Given the description of an element on the screen output the (x, y) to click on. 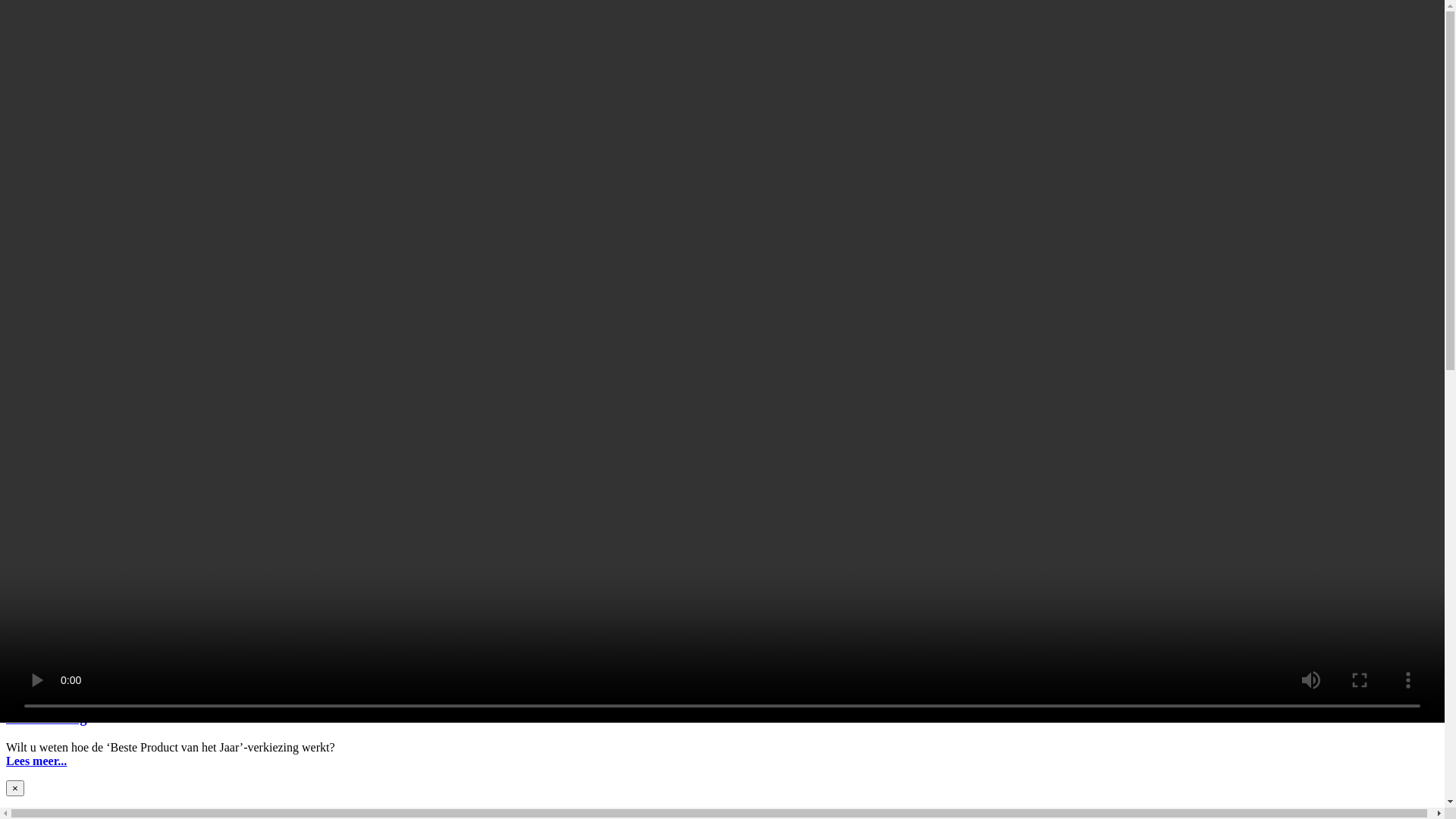
Stem Element type: text (21, 594)
de verkiezing Element type: text (46, 717)
Contact Element type: text (722, 67)
Doe mee Element type: text (28, 440)
Winnaars Element type: text (722, 80)
De verkiezing Element type: text (41, 410)
Contact Element type: text (26, 470)
Home Element type: text (722, 12)
Partners Element type: text (722, 121)
Winnaars Element type: text (31, 499)
Stem Element type: text (19, 380)
Doe mee Element type: text (722, 53)
Bekijk de winnaars Element type: text (86, 351)
Planning Element type: text (722, 94)
Stem Element type: text (722, 26)
Bekijk video Element type: text (722, 40)
Bekijk deze pagina in het Frans. Element type: text (114, 200)
Lees meer... Element type: text (36, 760)
Blijf op de hoogte Element type: text (722, 108)
Informatie voor producenten Element type: text (105, 160)
